Given the description of an element on the screen output the (x, y) to click on. 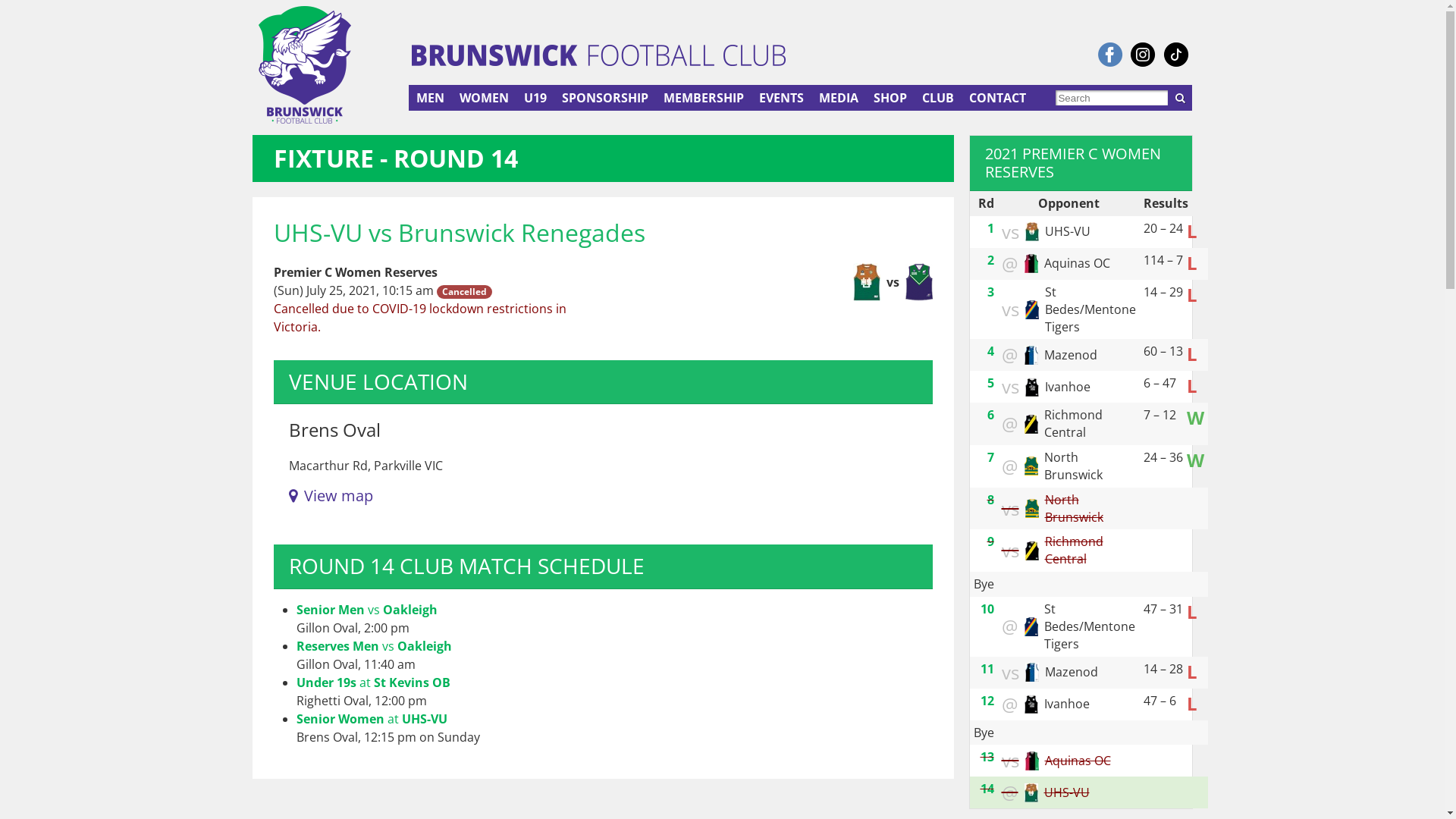
11 Element type: text (986, 667)
Senior Women at UHS-VU Element type: text (370, 718)
MEN Element type: text (429, 97)
10 Element type: text (986, 608)
Aquinas OC Element type: hover (1031, 760)
MEDIA Element type: text (838, 97)
7 Element type: text (990, 456)
Ivanhoe Element type: hover (1030, 703)
UHS-VU Element type: hover (1030, 792)
St Bedes/Mentone Tigers Element type: hover (1030, 626)
Under 19s at St Kevins OB Element type: text (372, 682)
Aquinas OC Element type: hover (1030, 263)
CONTACT Element type: text (997, 97)
9 Element type: text (990, 541)
2 Element type: text (990, 259)
Richmond Central Element type: hover (1031, 550)
Reserves Men vs Oakleigh Element type: text (373, 645)
MEMBERSHIP Element type: text (703, 97)
North Brunswick Element type: hover (1031, 507)
1 Element type: text (990, 227)
EVENTS Element type: text (781, 97)
SHOP Element type: text (890, 97)
WOMEN Element type: text (483, 97)
3 Element type: text (990, 291)
Richmond Central Element type: hover (1030, 423)
Ivanhoe Element type: hover (1031, 386)
Mazenod Element type: hover (1031, 671)
SEARCH Element type: text (1179, 97)
4 Element type: text (990, 350)
SPONSORSHIP Element type: text (604, 97)
UHS-VU Element type: hover (1031, 231)
12 Element type: text (986, 699)
Senior Men vs Oakleigh Element type: text (365, 609)
13 Element type: text (986, 756)
14 Element type: text (986, 788)
U19 Element type: text (535, 97)
St Bedes/Mentone Tigers Element type: hover (1031, 309)
8 Element type: text (990, 499)
North Brunswick Element type: hover (1030, 465)
6 Element type: text (990, 414)
5 Element type: text (990, 382)
CLUB Element type: text (937, 97)
Mazenod Element type: hover (1030, 354)
View map Element type: text (330, 495)
